Given the description of an element on the screen output the (x, y) to click on. 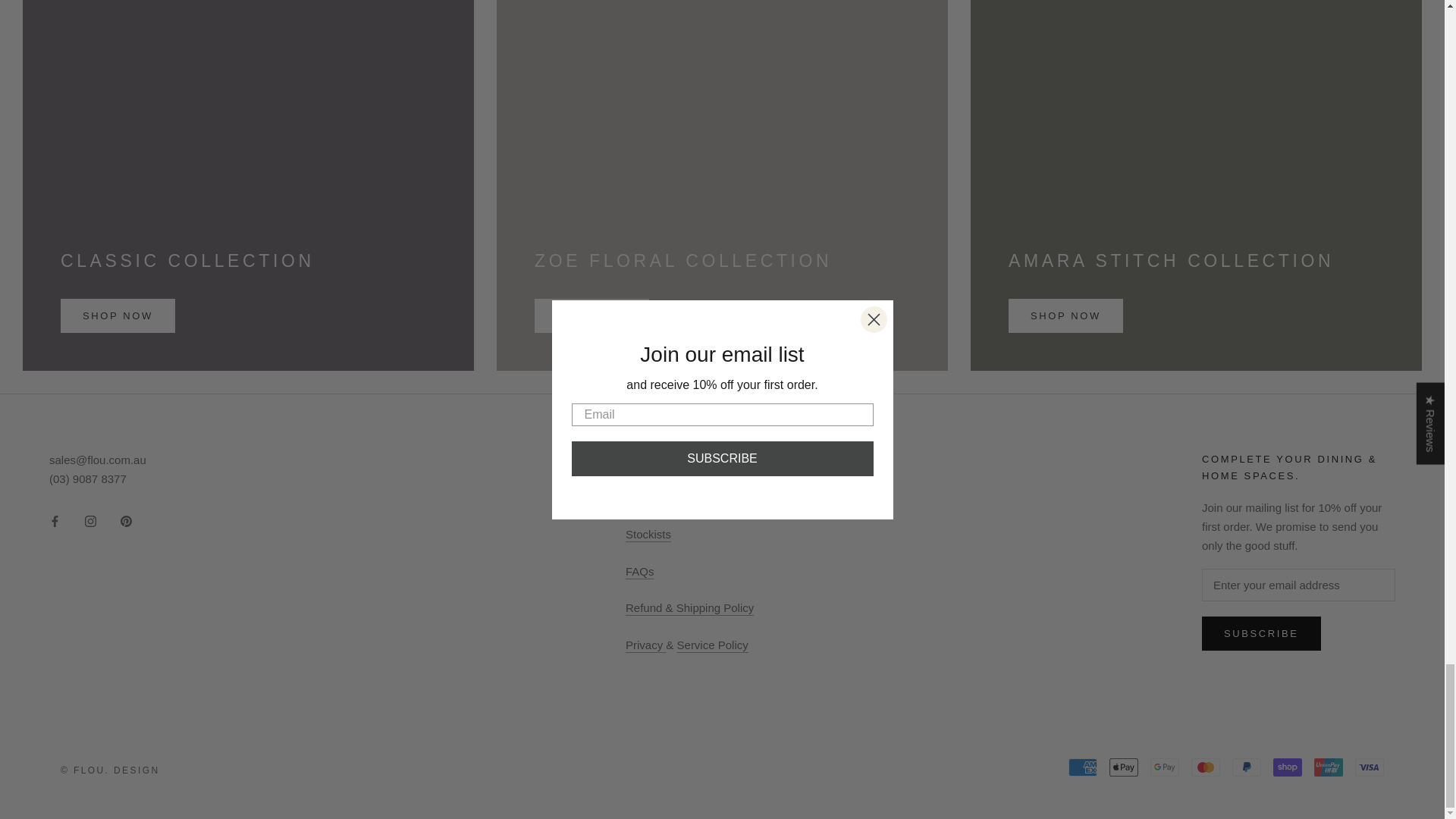
Google Pay (1164, 767)
Apple Pay (1123, 767)
Home page (646, 496)
STOCKISTS (648, 533)
CONTACT US (645, 459)
PayPal (1245, 767)
FAQs (639, 571)
Privacy Policy (645, 644)
Refund Policy (690, 607)
Union Pay (1328, 767)
American Express (1082, 767)
Shop Pay (1286, 767)
Mastercard (1205, 767)
Terms of Service (712, 644)
Visa (1369, 767)
